Given the description of an element on the screen output the (x, y) to click on. 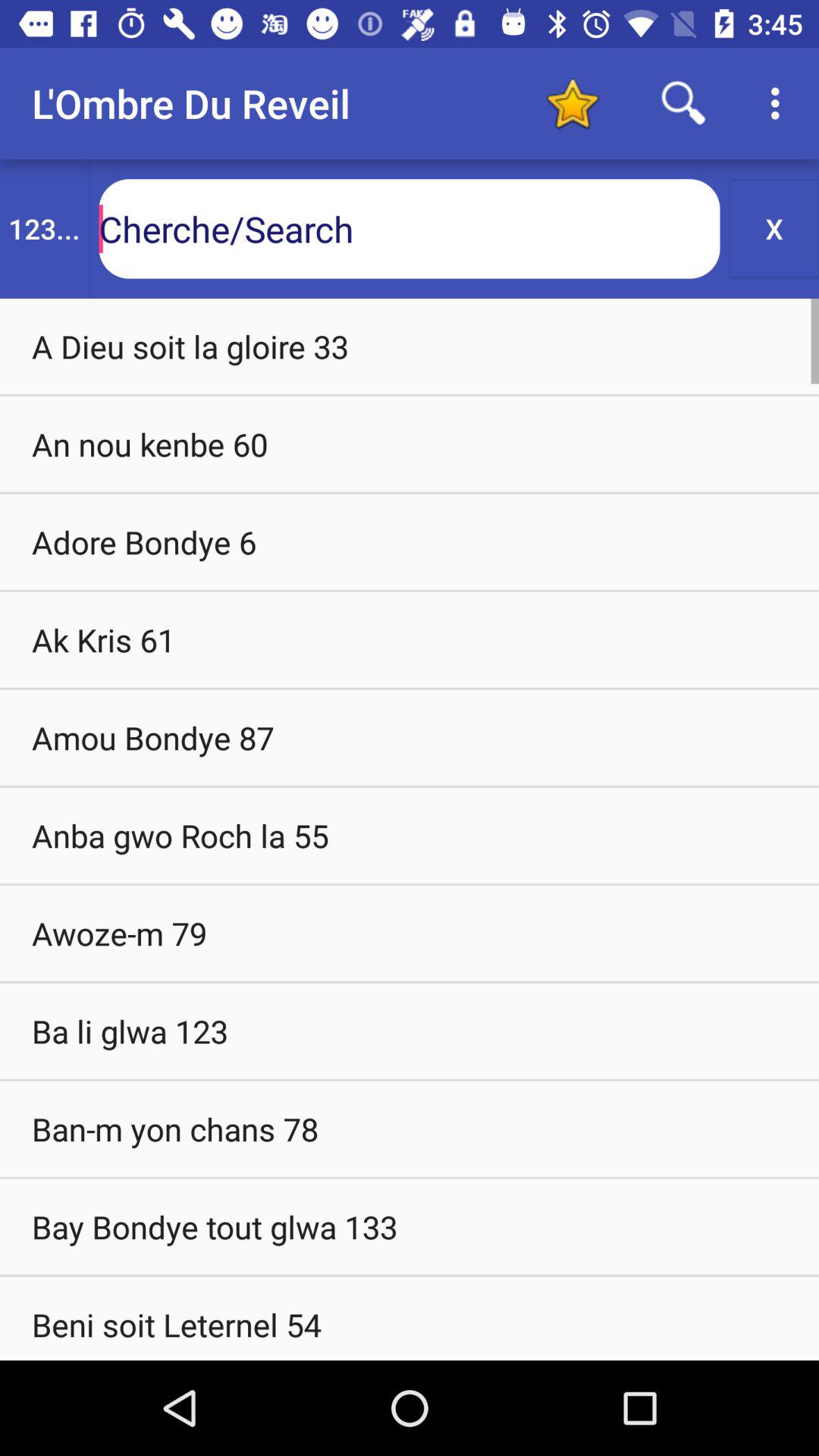
press item below the ak kris 61 item (409, 737)
